Given the description of an element on the screen output the (x, y) to click on. 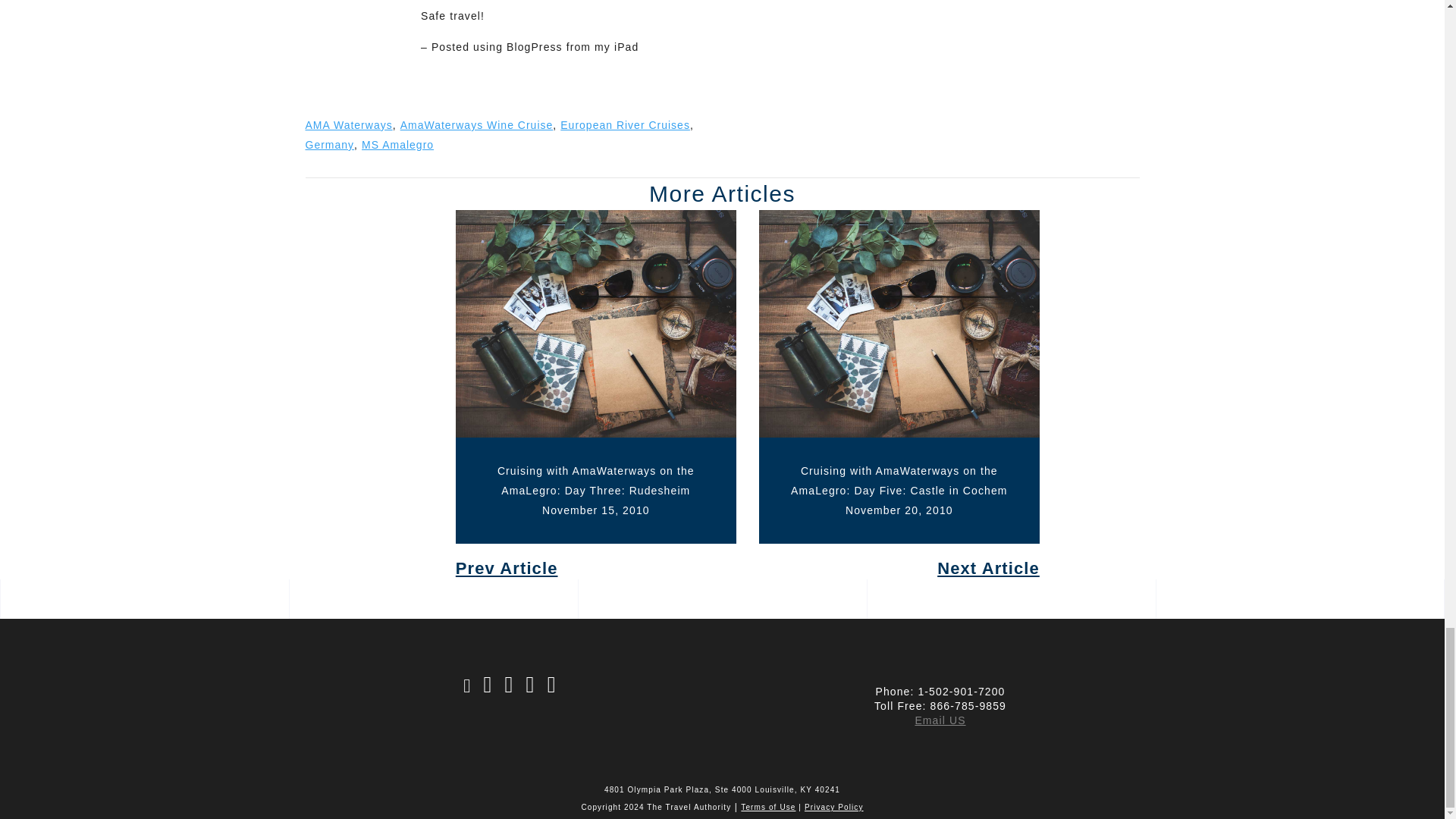
Next Article (898, 568)
Germany (328, 144)
AMA Waterways (347, 124)
AmaWaterways Wine Cruise (476, 124)
European River Cruises (625, 124)
Prev Article (595, 568)
MS Amalegro (397, 144)
